Given the description of an element on the screen output the (x, y) to click on. 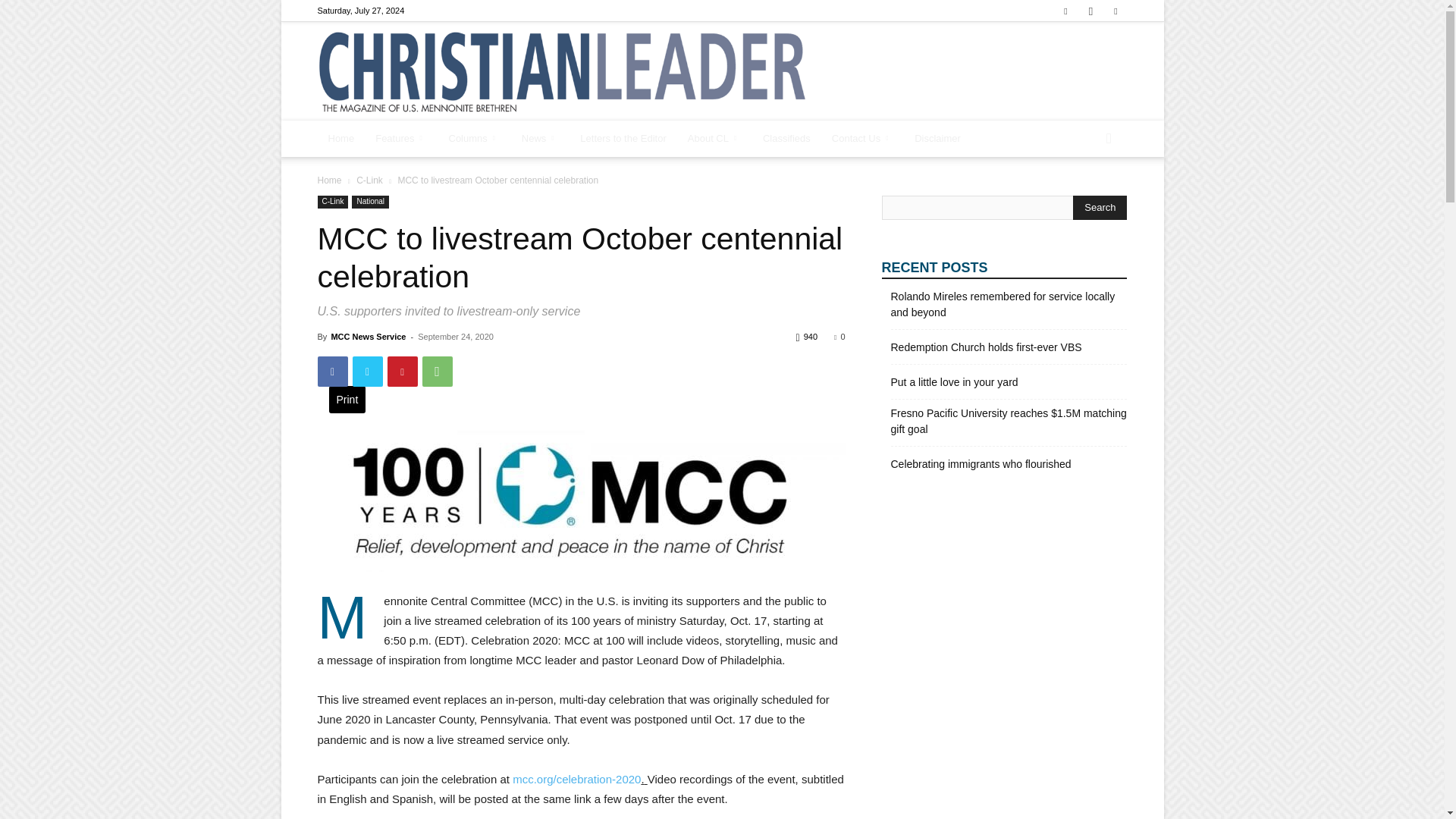
Twitter (1114, 10)
Search (1099, 207)
Facebook (1065, 10)
Instagram (1090, 10)
